Given the description of an element on the screen output the (x, y) to click on. 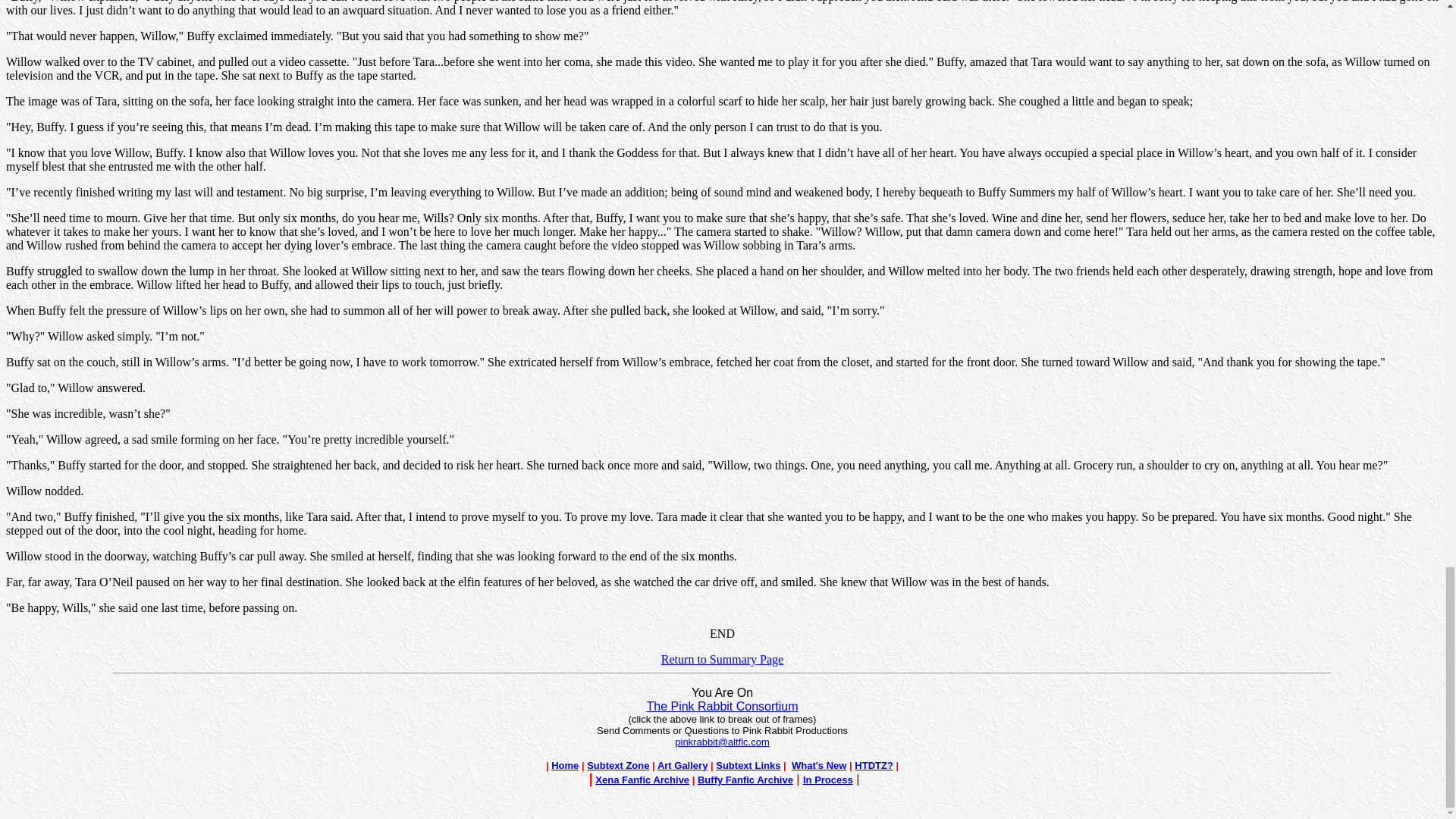
Subtext Zone (617, 764)
Home (564, 764)
In Process (828, 779)
Buffy Fanfic Archive (745, 779)
Art Gallery (682, 765)
Return to Summary Page (722, 658)
Xena Fanfic Archive (641, 779)
Subtext Links (748, 765)
The Pink Rabbit Consortium (721, 706)
HTDTZ? (873, 765)
What's New (818, 765)
